Given the description of an element on the screen output the (x, y) to click on. 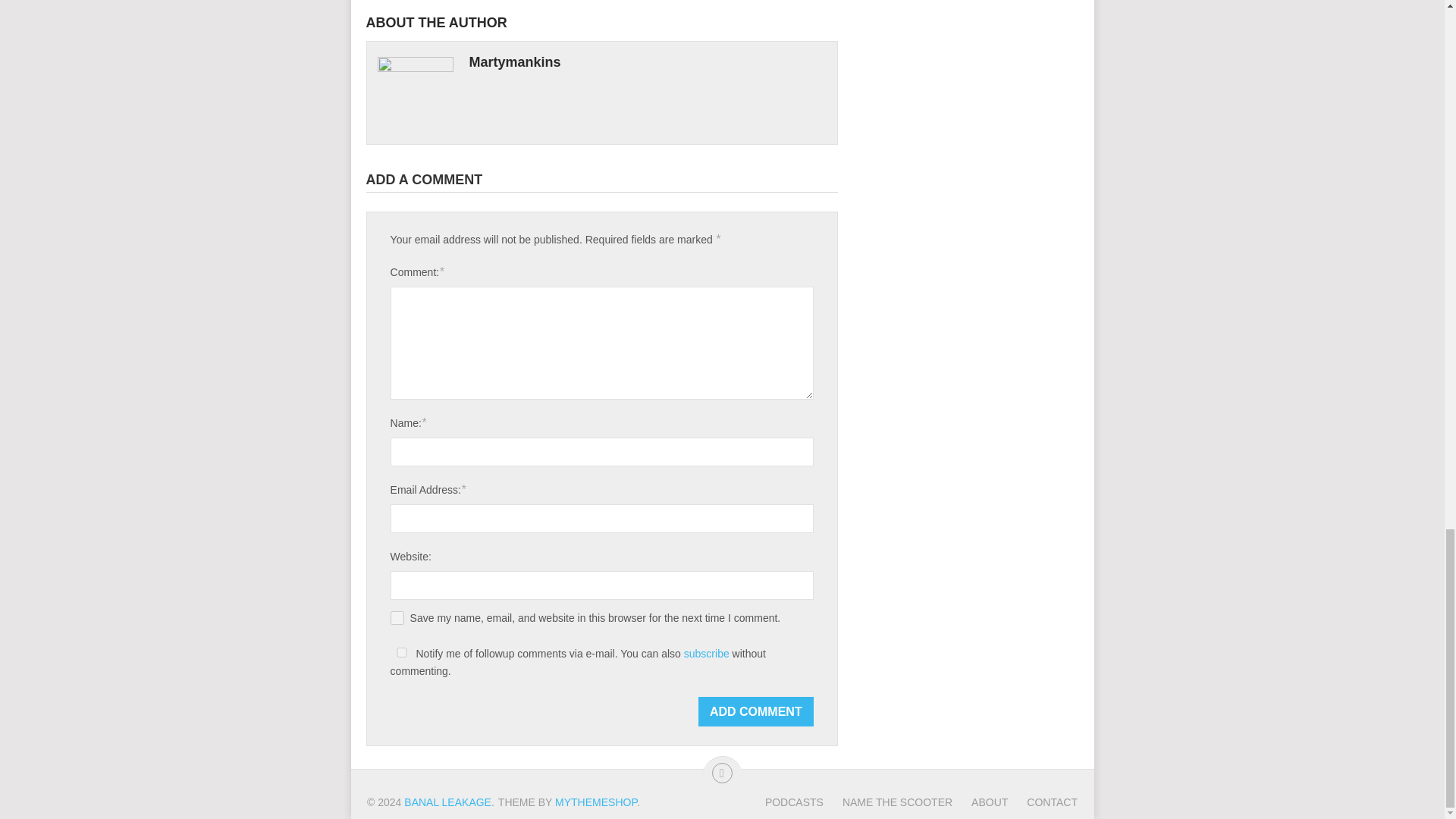
Add Comment (755, 711)
Add Comment (755, 711)
Advertisement (969, 6)
subscribe (706, 653)
Random Bits of Whatever (448, 802)
yes (401, 652)
yes (397, 617)
MYTHEMESHOP (595, 802)
BANAL LEAKAGE (448, 802)
